Given the description of an element on the screen output the (x, y) to click on. 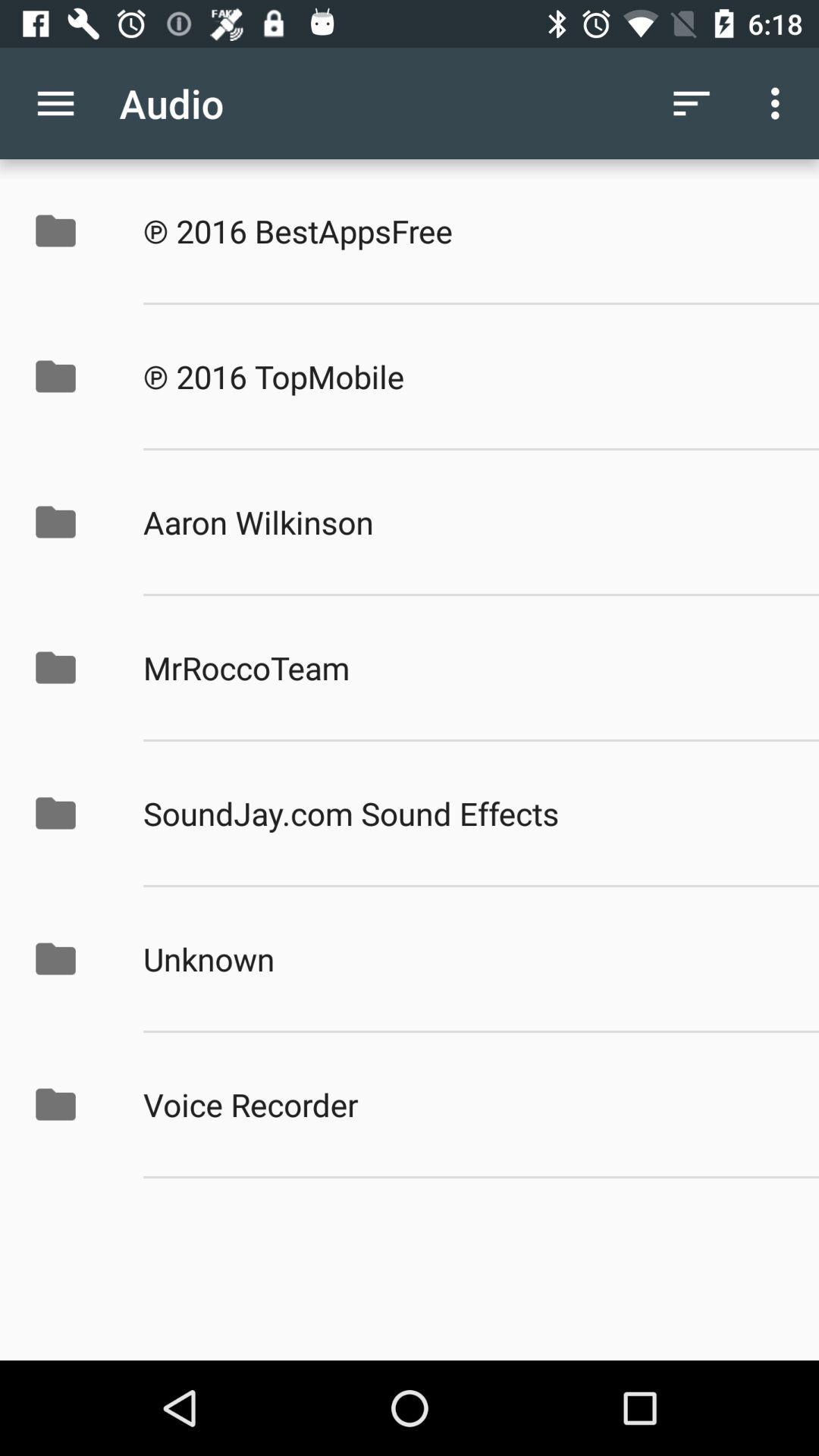
turn off app above unknown icon (465, 812)
